Given the description of an element on the screen output the (x, y) to click on. 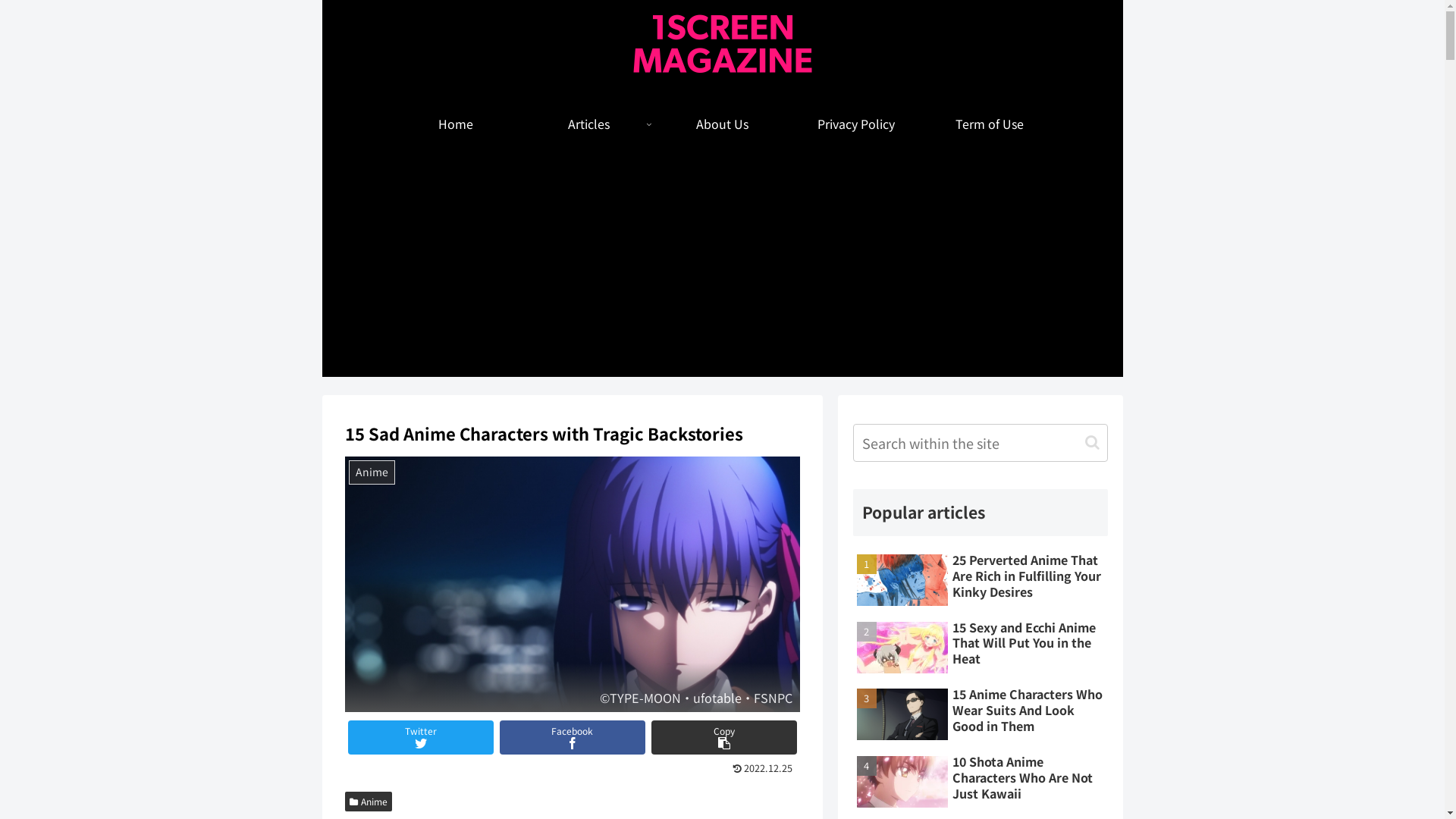
Anime Element type: text (368, 801)
Facebook Element type: text (571, 737)
Articles Element type: text (588, 123)
15 Anime Characters Who Wear Suits And Look Good in Them Element type: text (979, 714)
10 Shota Anime Characters Who Are Not Just Kawaii Element type: text (979, 781)
Term of Use Element type: text (988, 123)
15 Sexy and Ecchi Anime That Will Put You in the Heat Element type: text (979, 647)
Copy Element type: text (723, 737)
Home Element type: text (454, 123)
About Us Element type: text (721, 123)
Twitter Element type: text (419, 737)
Advertisement Element type: hover (721, 270)
Privacy Policy Element type: text (855, 123)
